Given the description of an element on the screen output the (x, y) to click on. 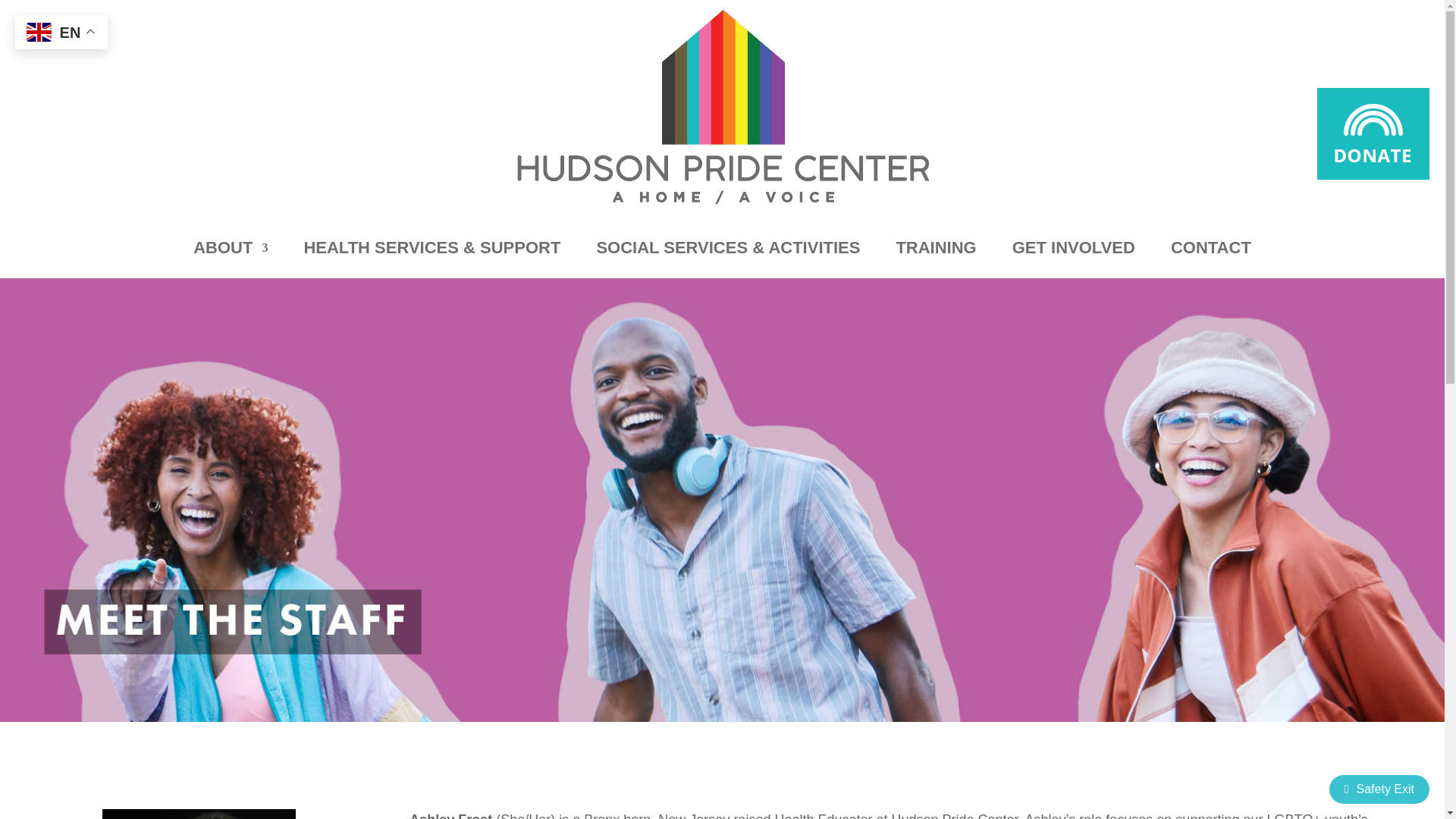
TRAINING (935, 247)
Safety Exit (1379, 788)
ABOUT (230, 247)
Ashley (198, 814)
GET INVOLVED (1073, 247)
donate (1373, 133)
CONTACT (1210, 247)
